Given the description of an element on the screen output the (x, y) to click on. 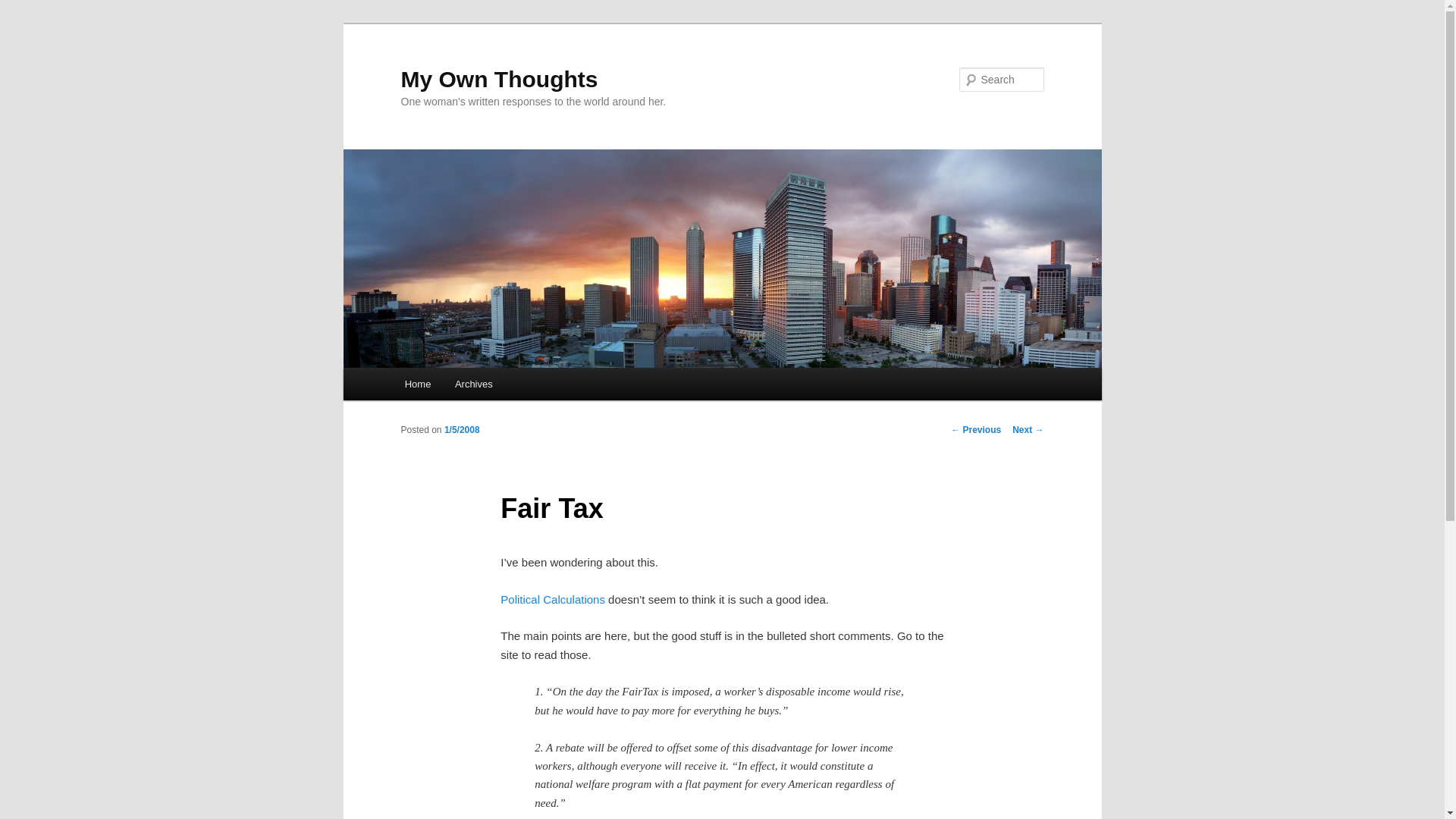
Search (24, 8)
Home (417, 383)
Archives (472, 383)
My Own Thoughts (498, 78)
9:23 am (462, 429)
Political Calculations (552, 599)
